Given the description of an element on the screen output the (x, y) to click on. 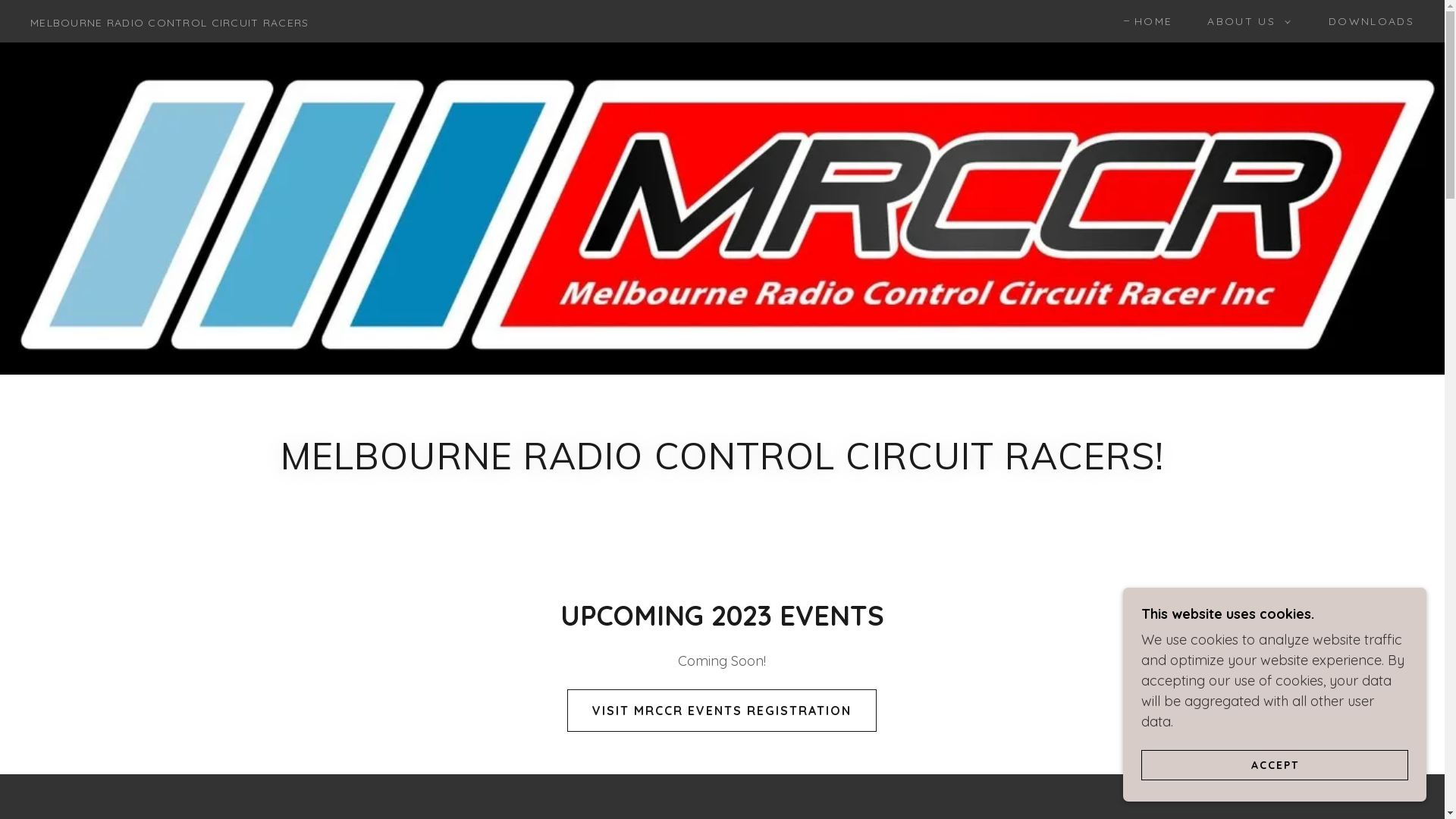
ACCEPT Element type: text (1274, 764)
MELBOURNE RADIO CONTROL CIRCUIT RACERS Element type: text (169, 20)
HOME Element type: text (1147, 21)
DOWNLOADS Element type: text (1365, 20)
VISIT MRCCR EVENTS REGISTRATION Element type: text (721, 710)
ABOUT US Element type: text (1244, 21)
